Given the description of an element on the screen output the (x, y) to click on. 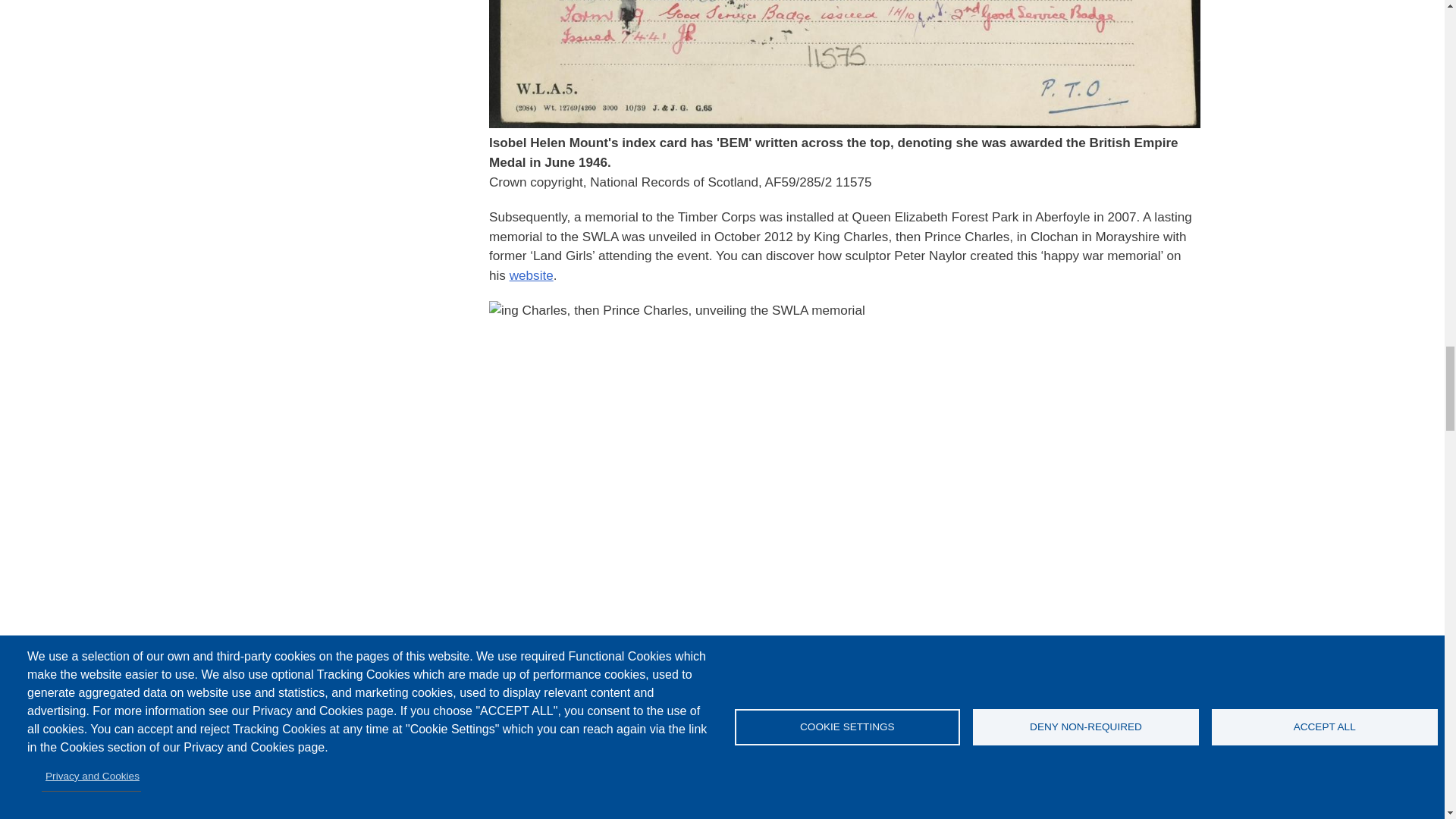
search the index cards (603, 798)
website (531, 274)
